Given the description of an element on the screen output the (x, y) to click on. 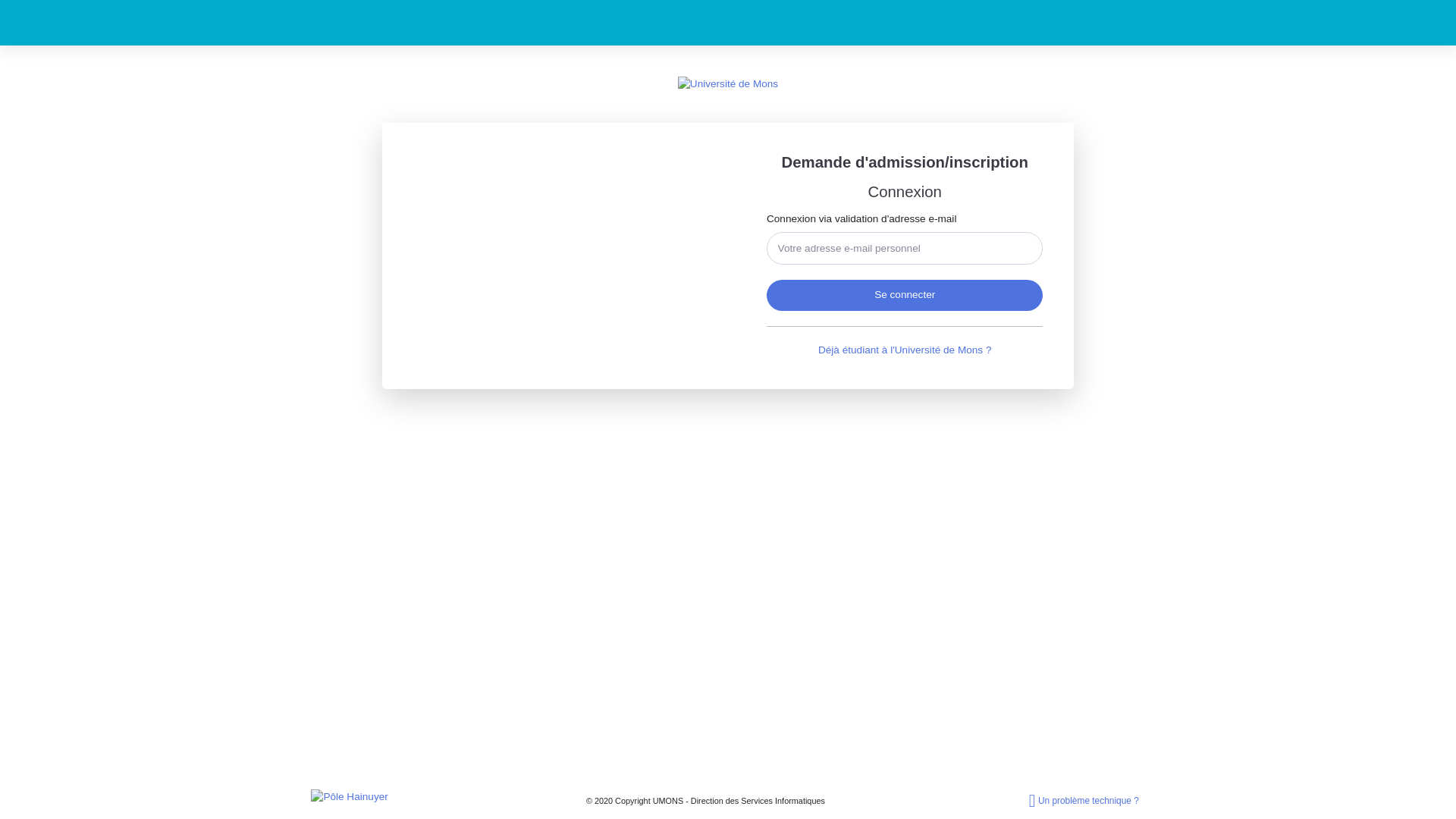
Se connecter Element type: text (904, 294)
